Given the description of an element on the screen output the (x, y) to click on. 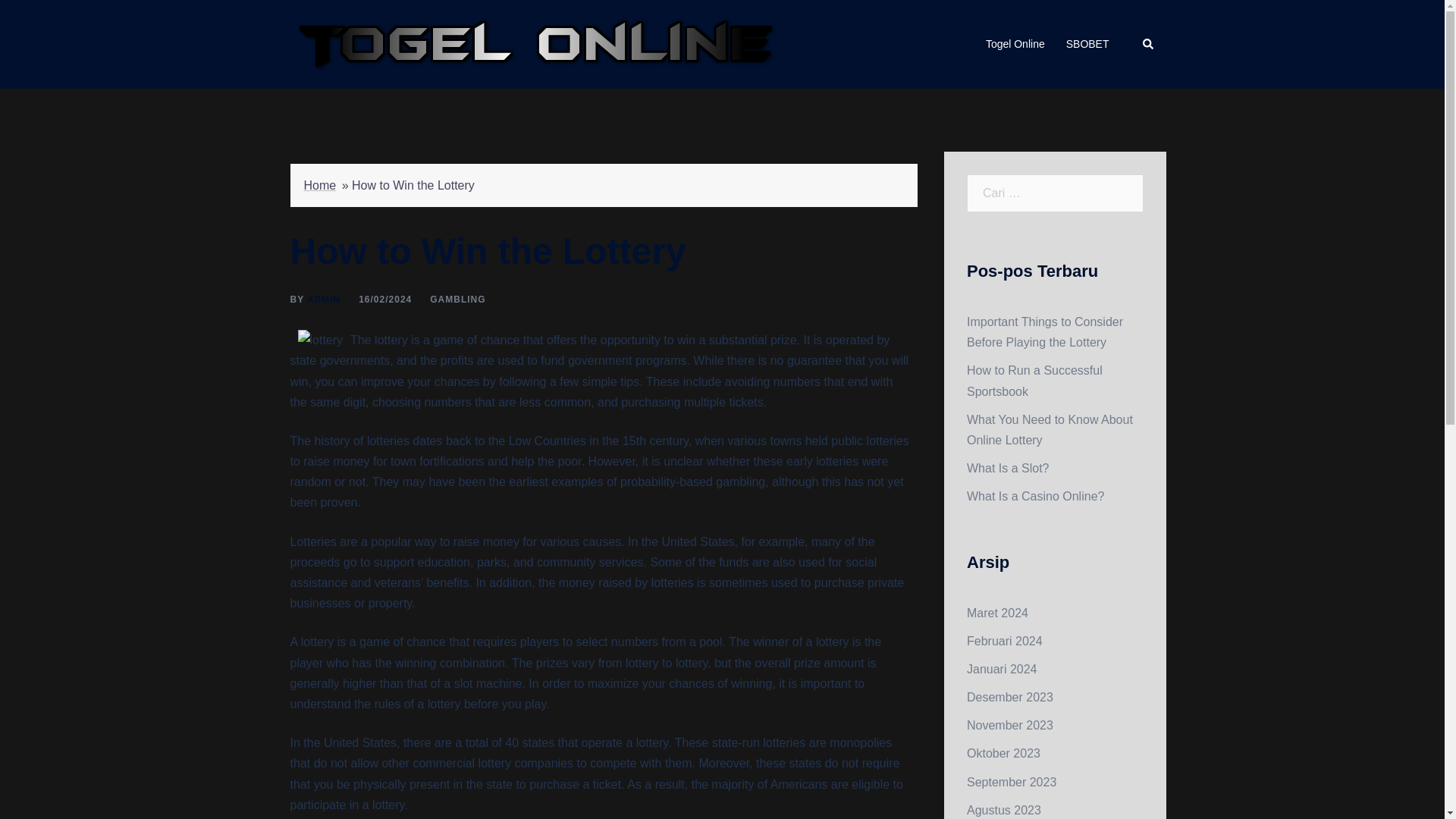
What Is a Slot? (1007, 468)
Search (1147, 43)
Agustus 2023 (1003, 809)
September 2023 (1011, 781)
Important Things to Consider Before Playing the Lottery (1044, 331)
ADMIN (323, 299)
November 2023 (1009, 725)
Februari 2024 (1004, 640)
Togel Online (1015, 45)
Cari (38, 18)
Home (319, 185)
hofspha.org (535, 42)
What Is a Casino Online? (1034, 495)
Maret 2024 (996, 612)
Oktober 2023 (1003, 753)
